Given the description of an element on the screen output the (x, y) to click on. 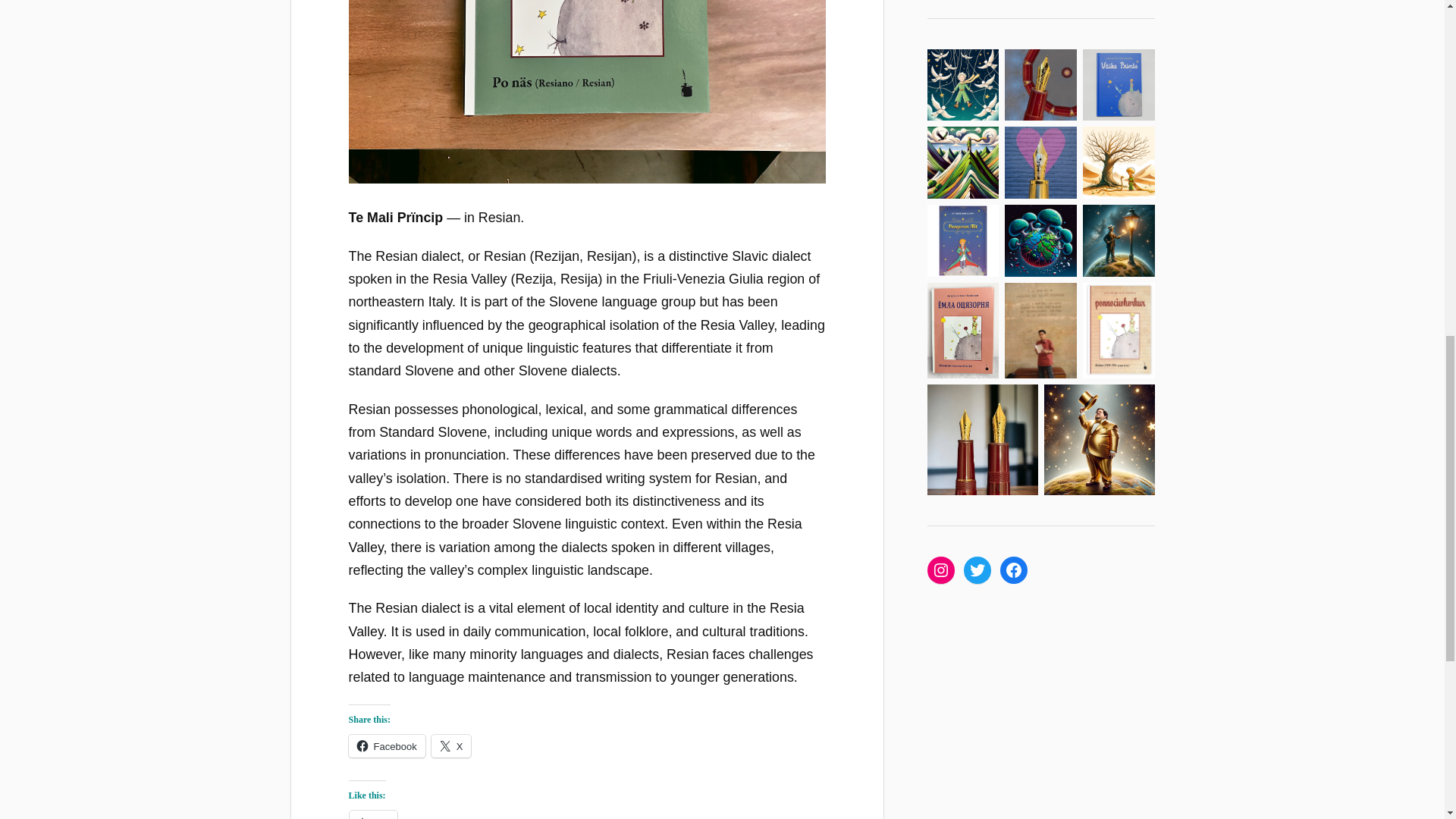
Click to share on X (450, 745)
Like or Reblog (587, 814)
Click to share on Facebook (387, 745)
